Given the description of an element on the screen output the (x, y) to click on. 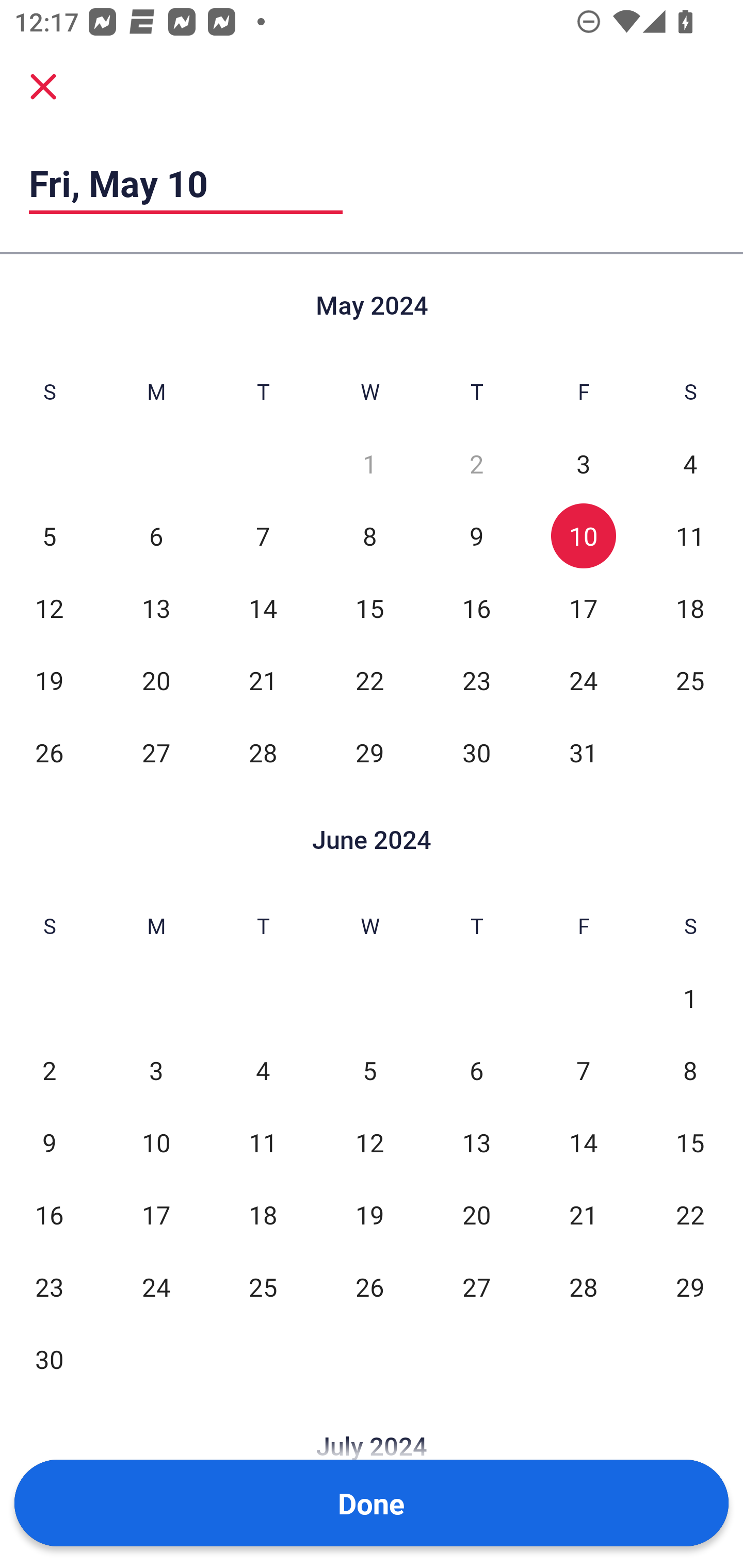
Cancel (43, 86)
Fri, May 10 (185, 182)
1 Wed, May 1, Not Selected (369, 464)
2 Thu, May 2, Not Selected (476, 464)
3 Fri, May 3, Not Selected (583, 464)
4 Sat, May 4, Not Selected (690, 464)
5 Sun, May 5, Not Selected (49, 536)
6 Mon, May 6, Not Selected (156, 536)
7 Tue, May 7, Not Selected (263, 536)
8 Wed, May 8, Not Selected (369, 536)
9 Thu, May 9, Not Selected (476, 536)
10 Fri, May 10, Selected (583, 536)
11 Sat, May 11, Not Selected (690, 536)
12 Sun, May 12, Not Selected (49, 608)
13 Mon, May 13, Not Selected (156, 608)
14 Tue, May 14, Not Selected (263, 608)
15 Wed, May 15, Not Selected (369, 608)
16 Thu, May 16, Not Selected (476, 608)
17 Fri, May 17, Not Selected (583, 608)
18 Sat, May 18, Not Selected (690, 608)
19 Sun, May 19, Not Selected (49, 680)
20 Mon, May 20, Not Selected (156, 680)
21 Tue, May 21, Not Selected (263, 680)
22 Wed, May 22, Not Selected (369, 680)
23 Thu, May 23, Not Selected (476, 680)
24 Fri, May 24, Not Selected (583, 680)
25 Sat, May 25, Not Selected (690, 680)
26 Sun, May 26, Not Selected (49, 752)
27 Mon, May 27, Not Selected (156, 752)
28 Tue, May 28, Not Selected (263, 752)
29 Wed, May 29, Not Selected (369, 752)
30 Thu, May 30, Not Selected (476, 752)
31 Fri, May 31, Not Selected (583, 752)
1 Sat, Jun 1, Not Selected (690, 997)
2 Sun, Jun 2, Not Selected (49, 1070)
3 Mon, Jun 3, Not Selected (156, 1070)
4 Tue, Jun 4, Not Selected (263, 1070)
5 Wed, Jun 5, Not Selected (369, 1070)
6 Thu, Jun 6, Not Selected (476, 1070)
7 Fri, Jun 7, Not Selected (583, 1070)
8 Sat, Jun 8, Not Selected (690, 1070)
9 Sun, Jun 9, Not Selected (49, 1143)
10 Mon, Jun 10, Not Selected (156, 1143)
11 Tue, Jun 11, Not Selected (263, 1143)
12 Wed, Jun 12, Not Selected (369, 1143)
13 Thu, Jun 13, Not Selected (476, 1143)
14 Fri, Jun 14, Not Selected (583, 1143)
15 Sat, Jun 15, Not Selected (690, 1143)
16 Sun, Jun 16, Not Selected (49, 1215)
17 Mon, Jun 17, Not Selected (156, 1215)
